Given the description of an element on the screen output the (x, y) to click on. 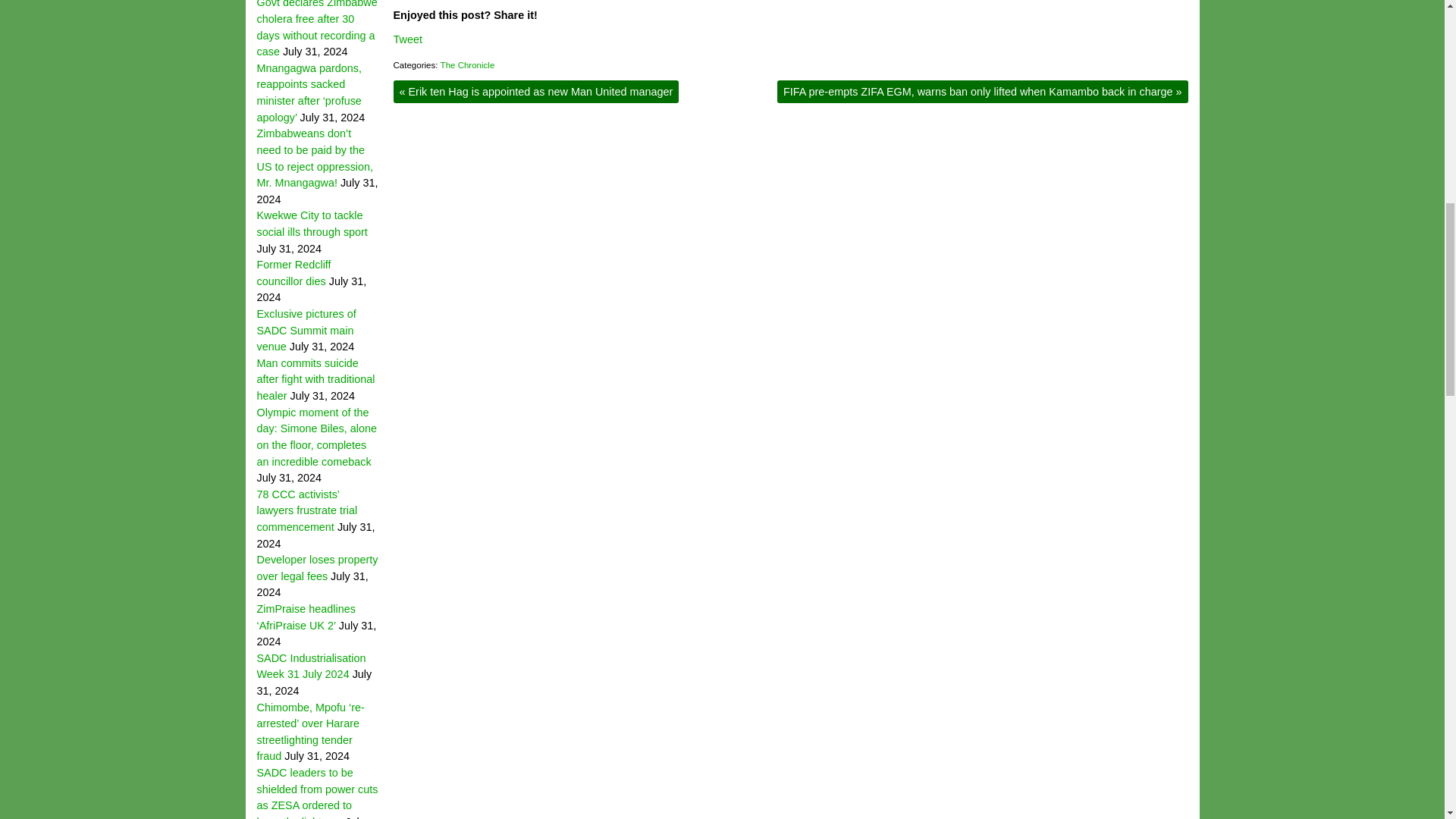
Kwekwe City to tackle social ills through sport (311, 223)
The Chronicle (468, 64)
Tweet (407, 39)
Former Redcliff councillor dies (293, 272)
